Given the description of an element on the screen output the (x, y) to click on. 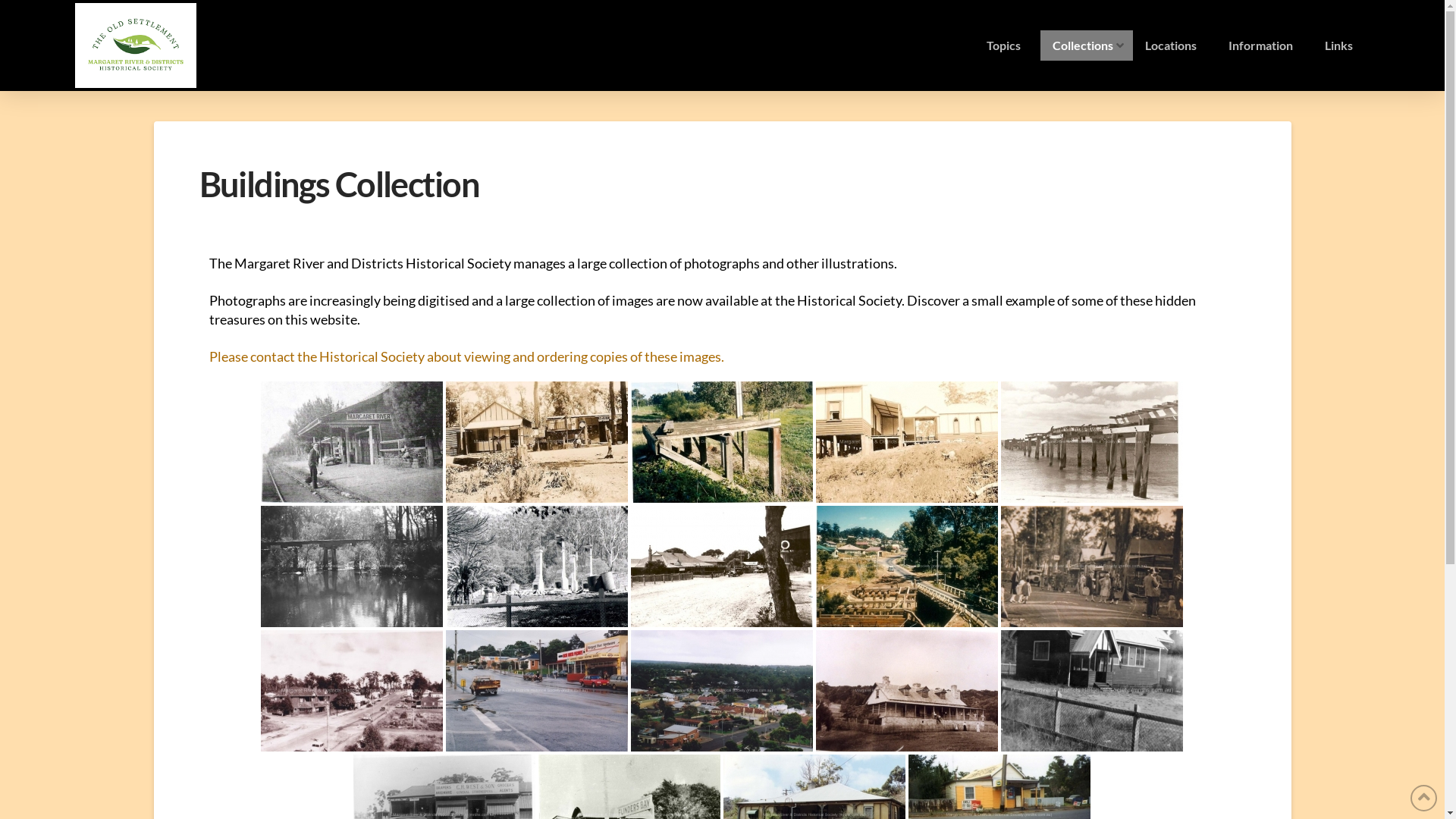
Item 9017
Post Office, Cowaramup, 1928 Element type: hover (536, 441)
Item 429
Main street, Augusta, 1920s. Element type: hover (721, 566)
Collections Element type: text (1086, 45)
Topics Element type: text (1007, 45)
Item9014
Karridale, after the fires of 1961 Element type: hover (536, 566)
Item479
Hamelin Bay jetty, taken between 1936 and 1945 Element type: hover (1092, 441)
Links Element type: text (1342, 45)
Back to Top Element type: hover (1423, 797)
Information Element type: text (1264, 45)
Locations Element type: text (1174, 45)
